Given the description of an element on the screen output the (x, y) to click on. 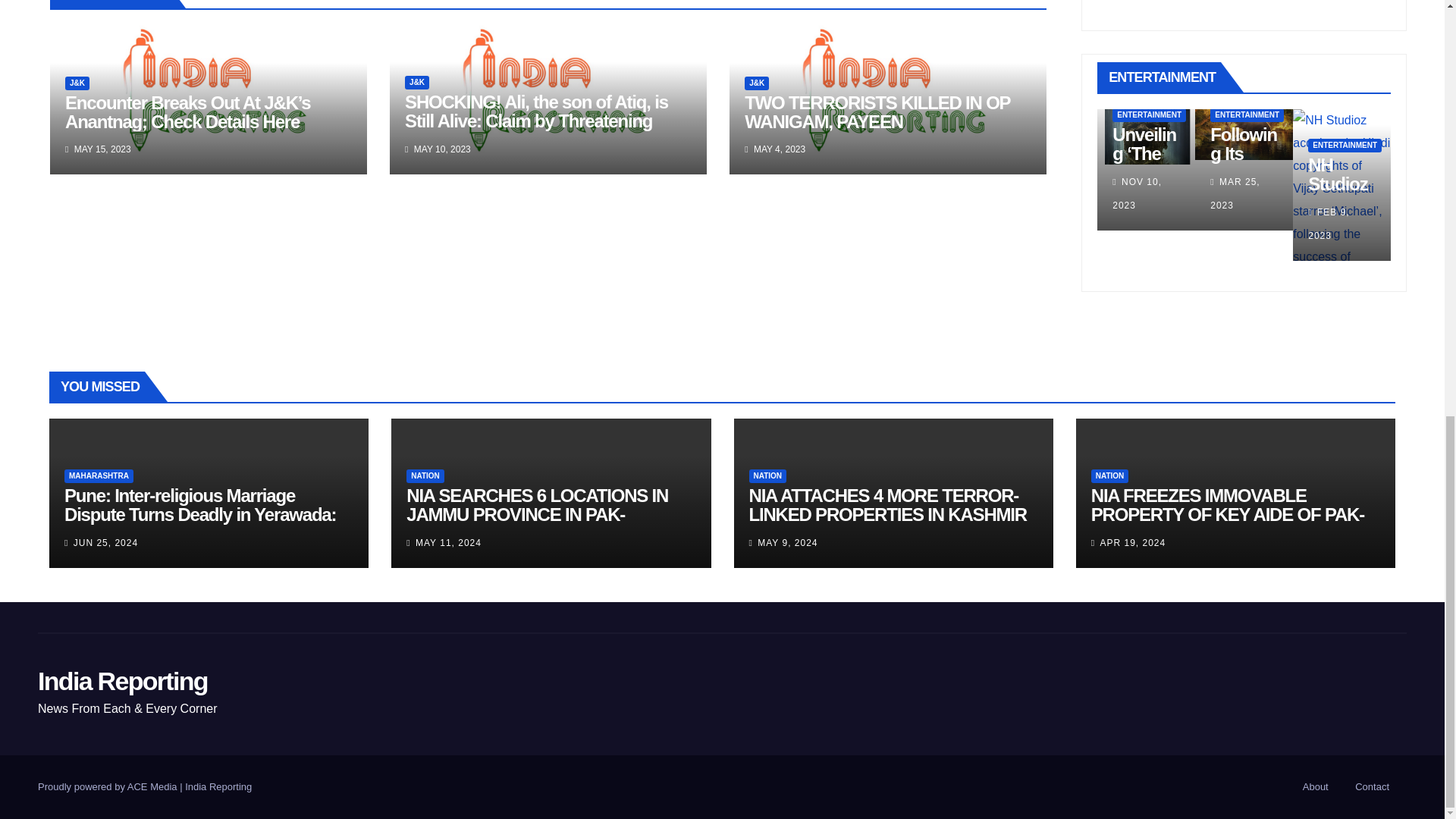
Permalink to: TWO TERRORISTS KILLED IN OP WANIGAM, PAYEEN (877, 111)
TWO TERRORISTS KILLED IN OP WANIGAM, PAYEEN (877, 111)
